Given the description of an element on the screen output the (x, y) to click on. 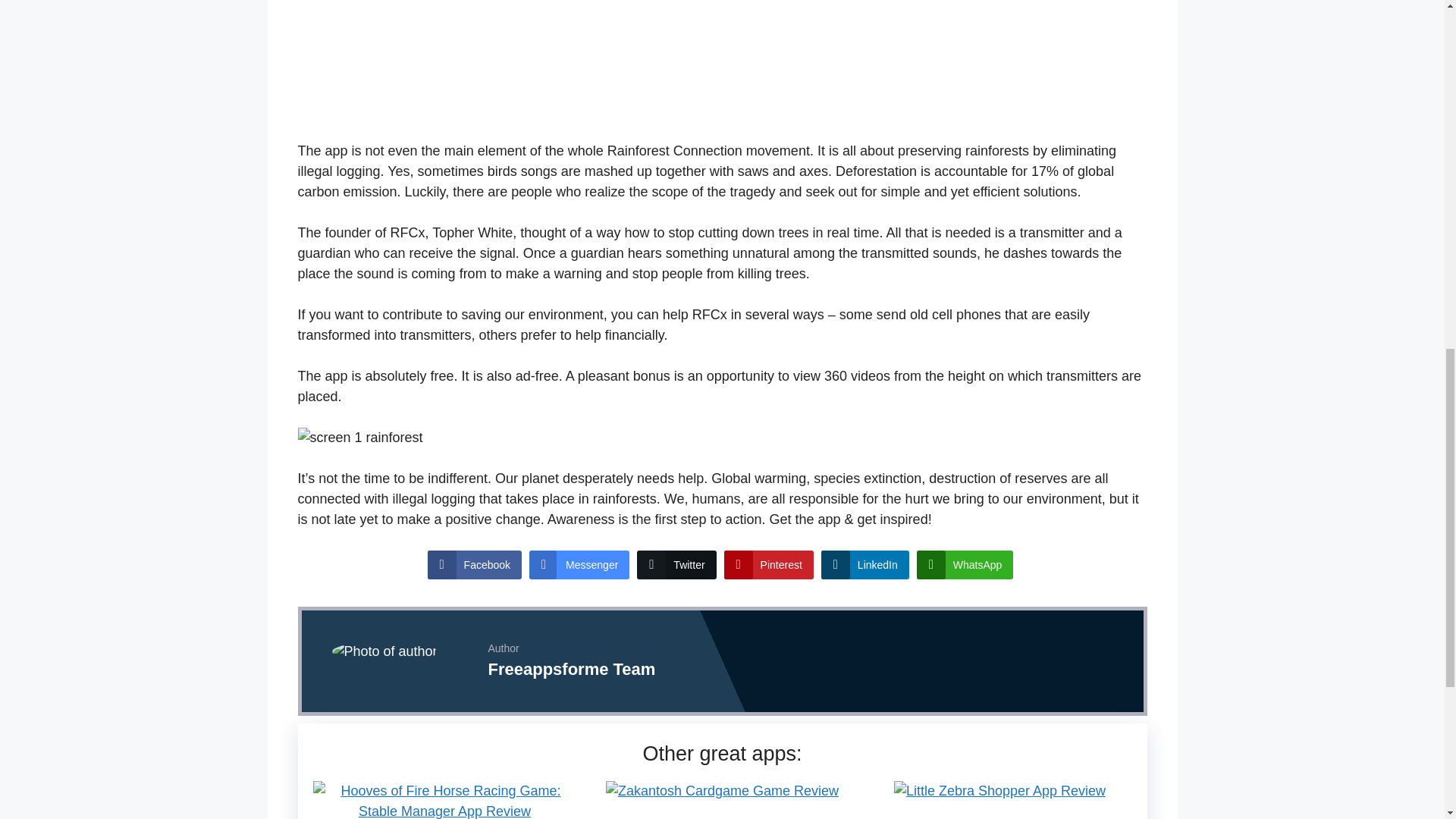
Pinterest (768, 564)
Messenger (578, 564)
Facebook (474, 564)
Little Zebra Shopper App Review (999, 790)
Scroll back to top (1406, 720)
Zakantosh Cardgame Game Review (721, 790)
LinkedIn (864, 564)
Hooves of Fire Horse Racing Game: Stable Manager App Review (444, 811)
